Given the description of an element on the screen output the (x, y) to click on. 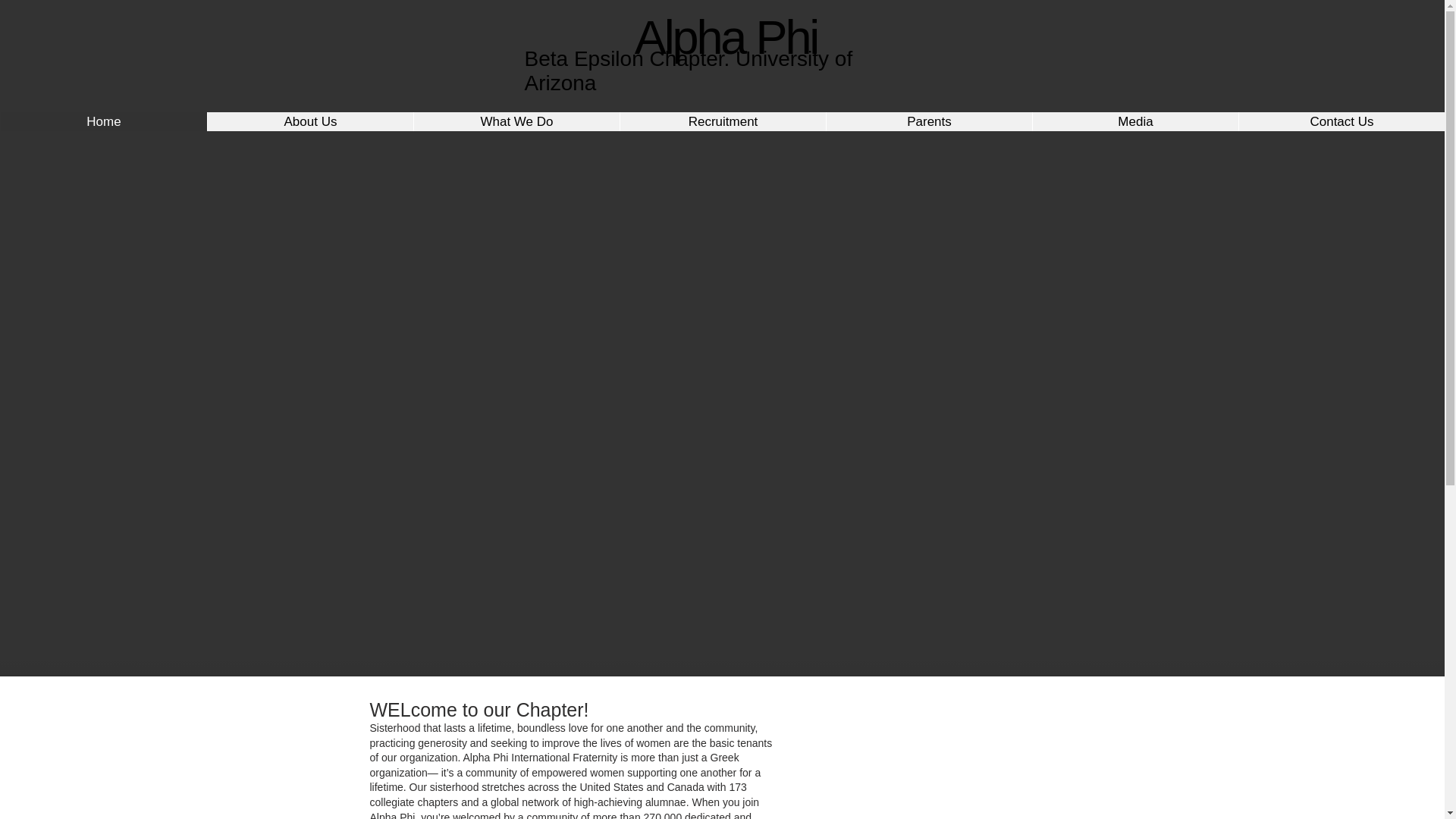
About Us (309, 121)
Parents (928, 121)
Home (103, 121)
Recruitment (722, 121)
Alpha Phi (725, 36)
